Given the description of an element on the screen output the (x, y) to click on. 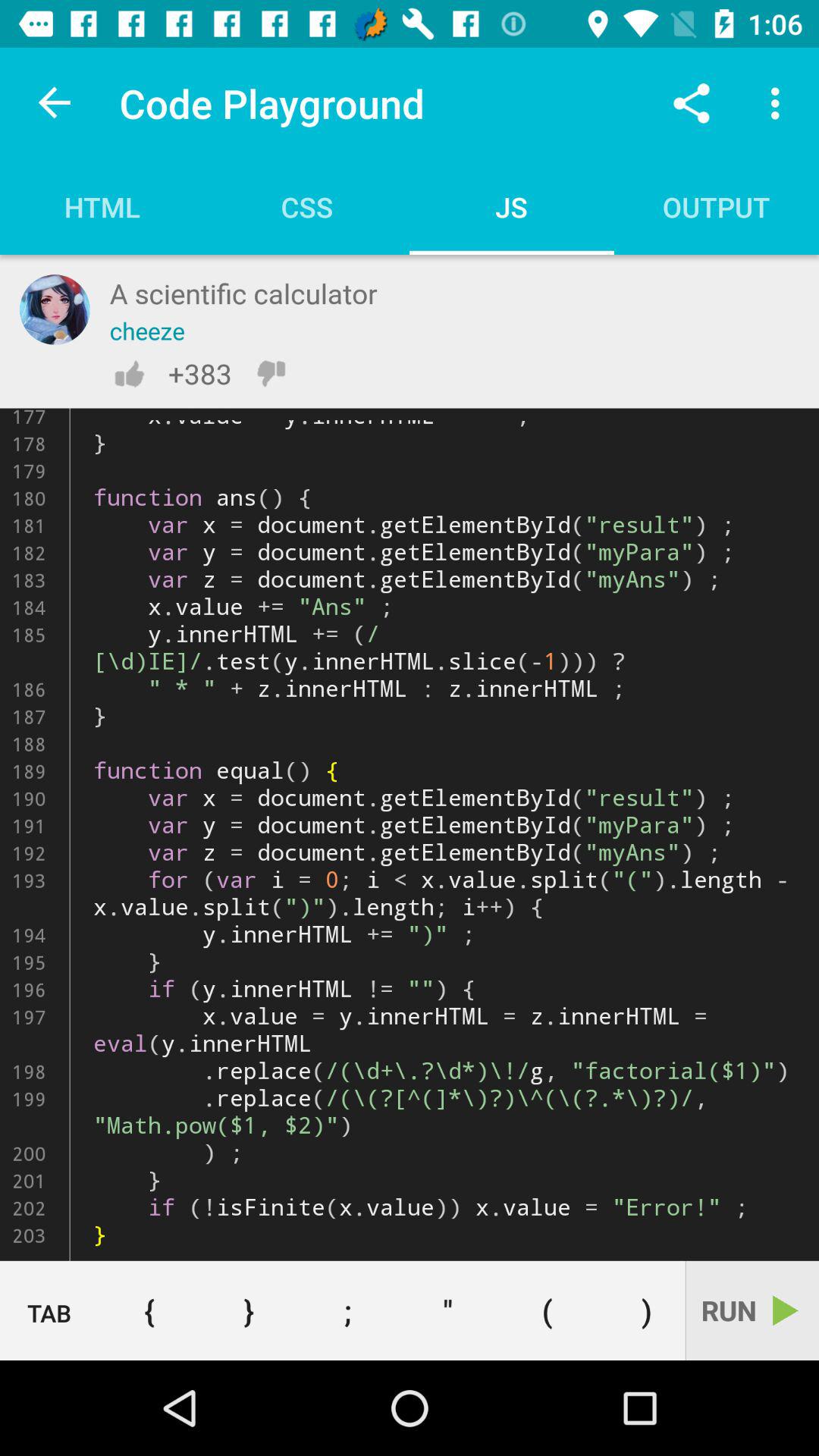
jump to the tab button (49, 1311)
